Given the description of an element on the screen output the (x, y) to click on. 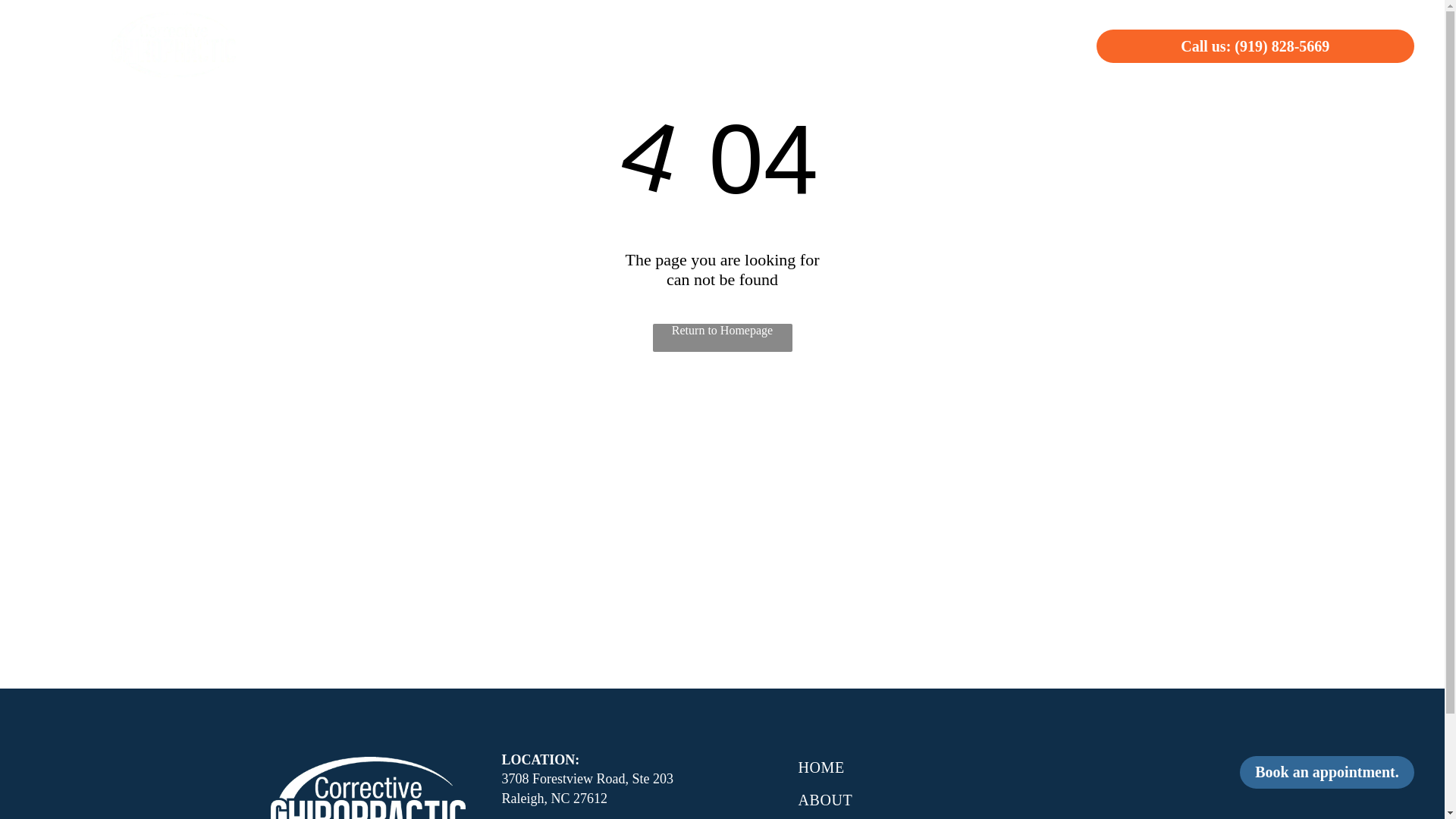
SERVICES (678, 44)
ABOUT (943, 799)
HOME (943, 767)
RESOURCES (883, 44)
Return to Homepage (722, 337)
HOME (583, 44)
ABOUT (776, 44)
Book an appointment. (1326, 771)
CONTACT (997, 44)
